Given the description of an element on the screen output the (x, y) to click on. 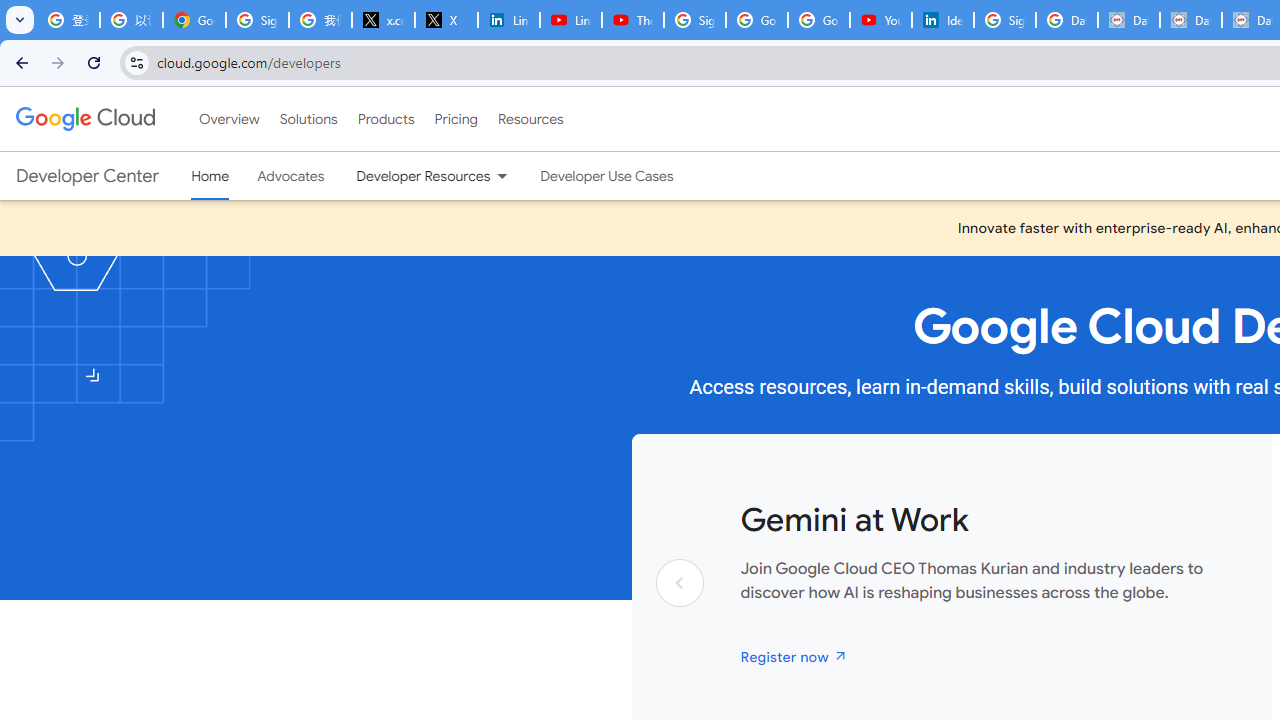
Products (385, 119)
Dropdown menu for Developer Resources (502, 175)
Google Cloud (84, 118)
